Given the description of an element on the screen output the (x, y) to click on. 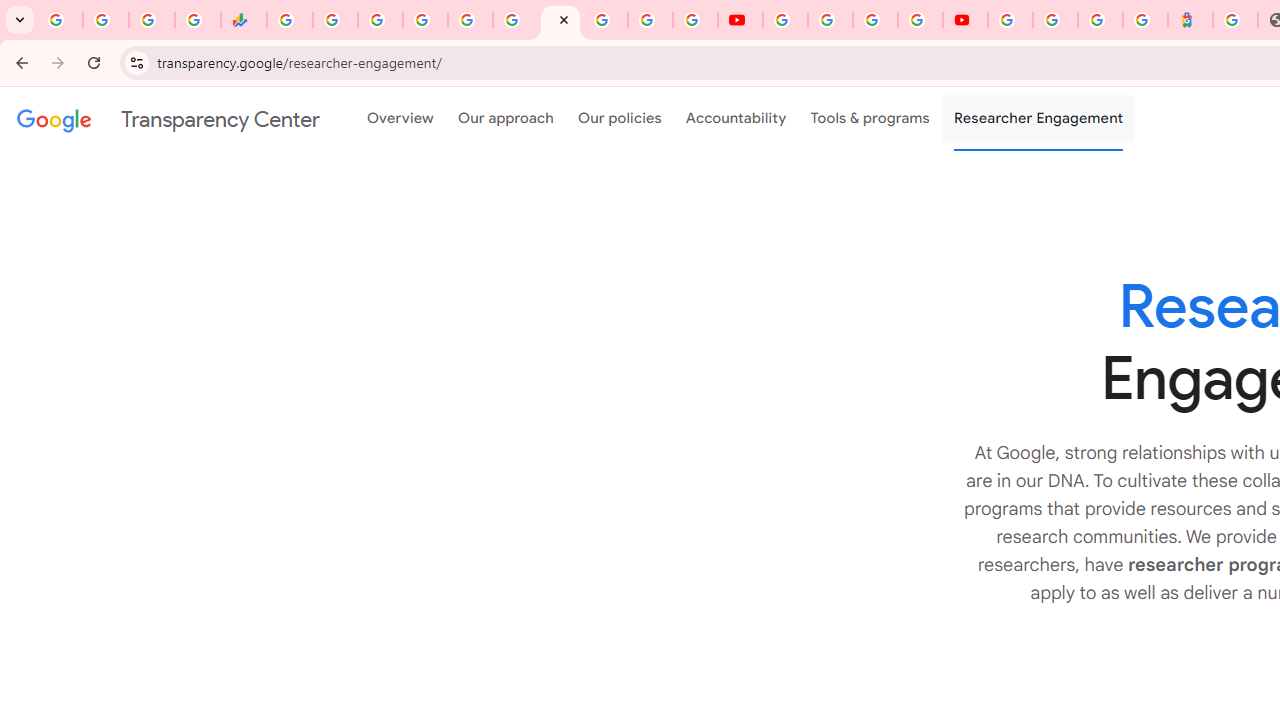
Researcher Engagement (1038, 119)
Accountability (735, 119)
Our approach (506, 119)
YouTube (740, 20)
Transparency Center (167, 119)
Our policies (619, 119)
